Given the description of an element on the screen output the (x, y) to click on. 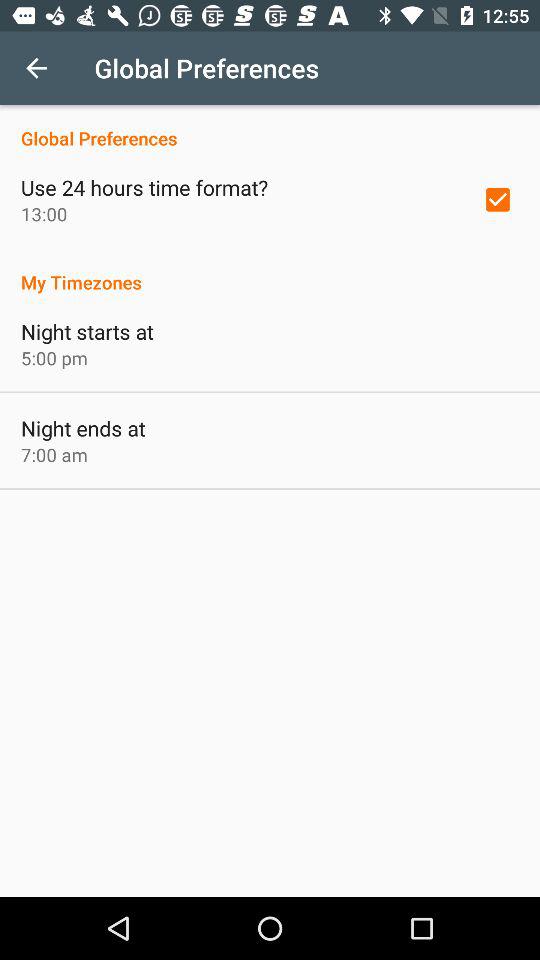
press the my timezones icon (270, 271)
